Given the description of an element on the screen output the (x, y) to click on. 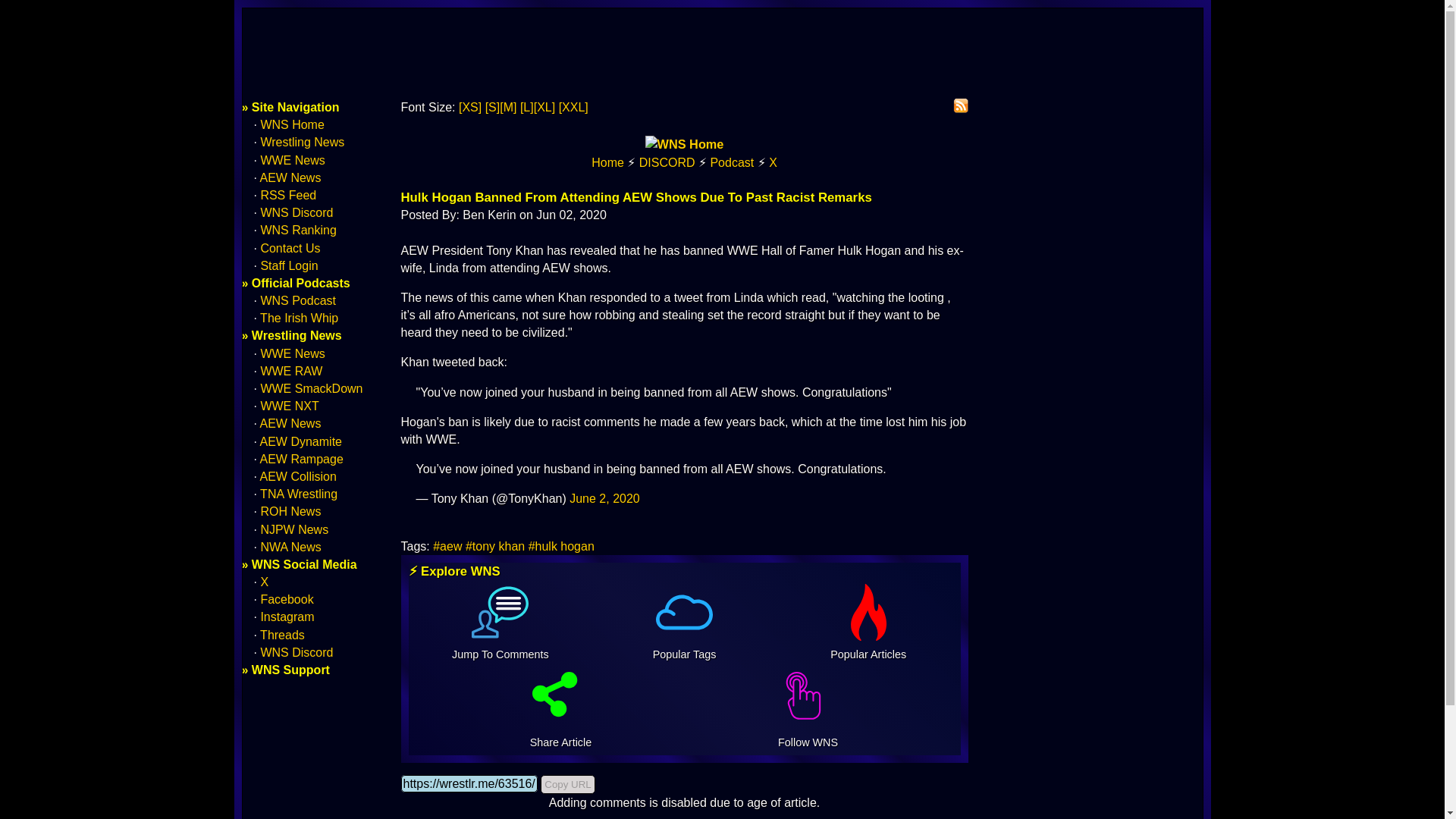
Facebook (286, 599)
WNS Podcast (298, 300)
Wrestling News (301, 141)
TNA Wrestling (298, 493)
WNS Home (607, 162)
AEW News (290, 422)
WNS Discord (296, 212)
Threads (282, 634)
Keep up with the RSS feed! (960, 105)
WNS Ranking (298, 229)
Staff Login (288, 265)
WNS Home (684, 143)
WWE NXT (289, 405)
WWE SmackDown (311, 388)
WNS on Discord (667, 162)
